Given the description of an element on the screen output the (x, y) to click on. 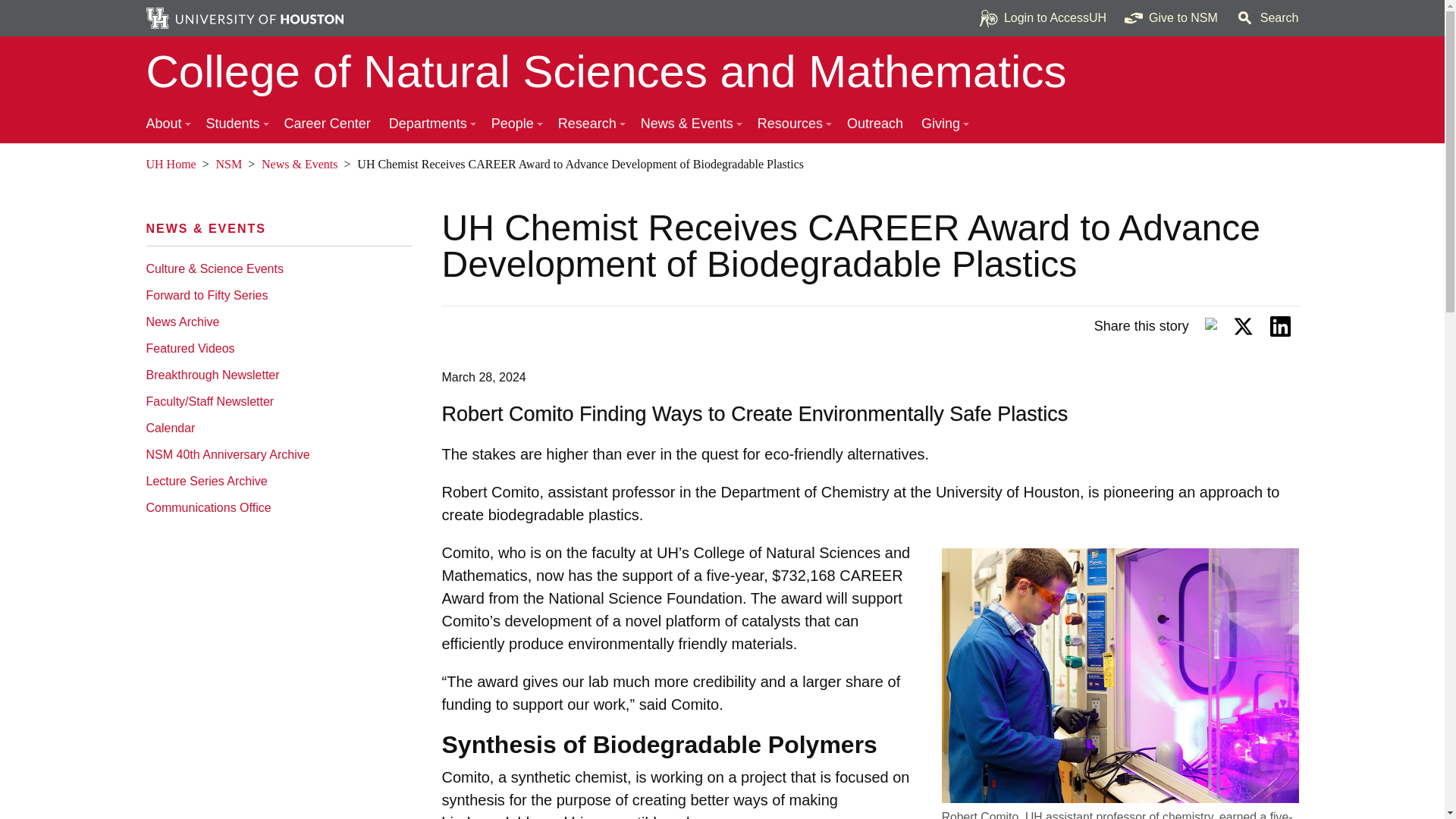
Communications Office (274, 507)
College of Natural Sciences and Mathematics (721, 71)
Career Center (327, 123)
Forward to Fifty Series (274, 294)
Featured Videos (274, 347)
Give to NSM (1171, 18)
About (166, 123)
Breakthrough Newsletter (274, 374)
NSM 40th Anniversary Archive (274, 454)
Login to AccessUH (1043, 18)
